Given the description of an element on the screen output the (x, y) to click on. 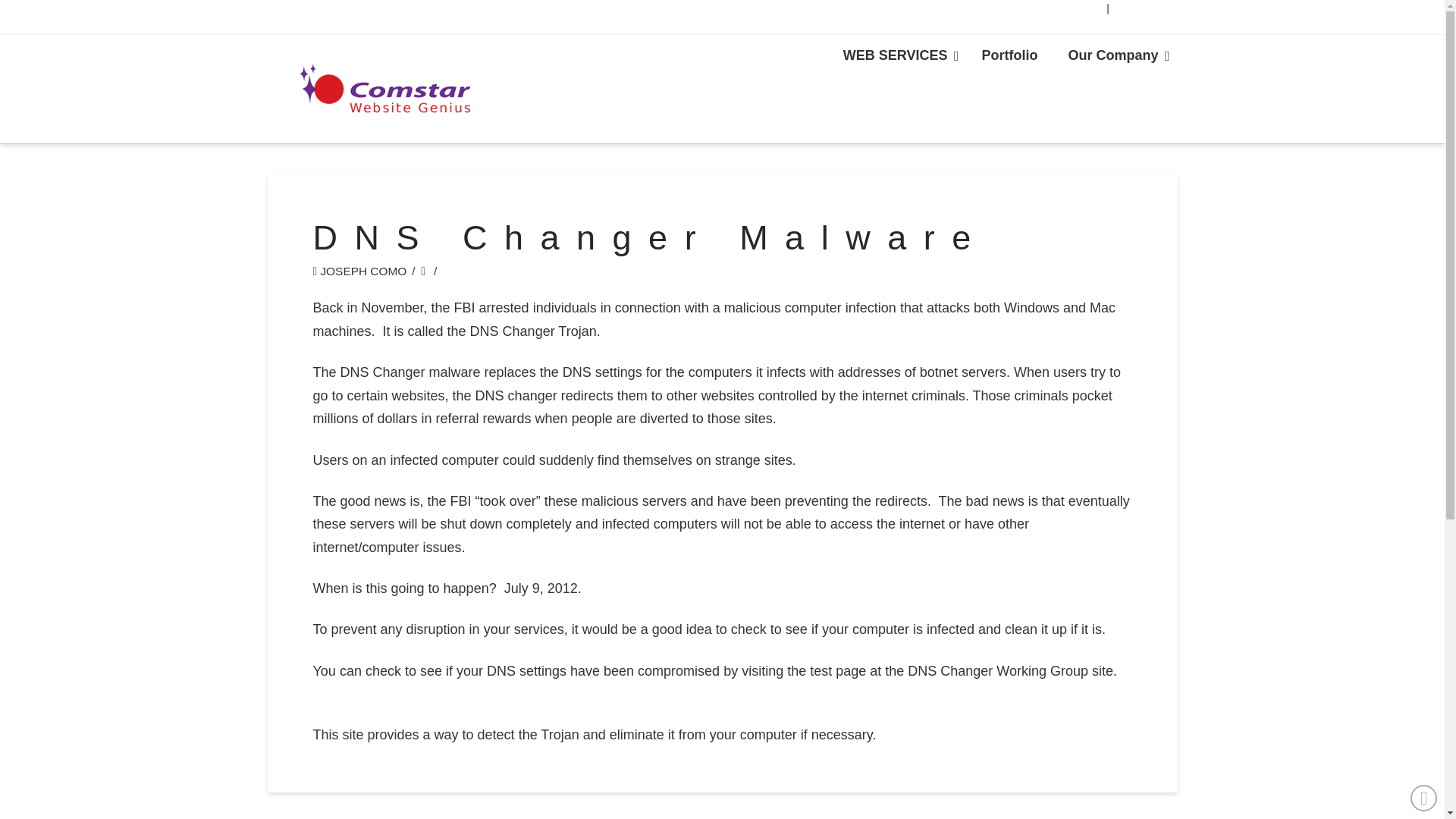
Our Company (1114, 56)
WEBSITE TOOLS (491, 270)
SUPPORT (1077, 8)
www.dcwg.org (356, 693)
Back to Top (1423, 797)
WEB SERVICES (897, 56)
Portfolio (1002, 56)
262.953.6000 (1009, 56)
